Given the description of an element on the screen output the (x, y) to click on. 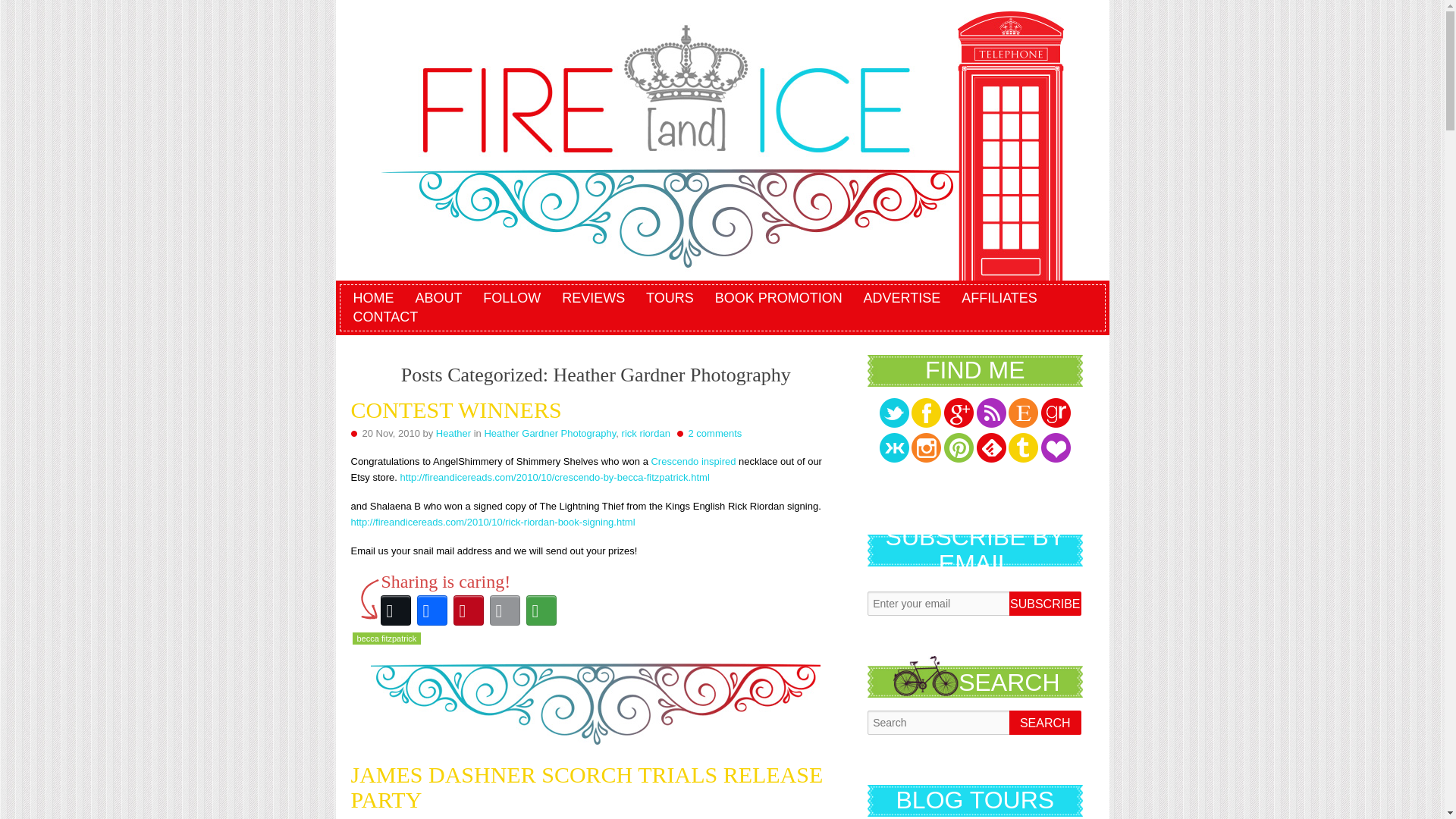
James Dashner Scorch Trials Release Party (586, 787)
BOOK PROMOTION (778, 298)
Email This (504, 610)
ADVERTISE (902, 298)
TOURS (670, 298)
Posts by Heather (450, 818)
CONTACT (386, 316)
More Options (540, 610)
Posts by Heather (452, 432)
Subscribe (1044, 603)
AFFILIATES (999, 298)
Contest Winners (455, 409)
Facebook (431, 610)
HOME (373, 298)
FOLLOW (512, 298)
